Given the description of an element on the screen output the (x, y) to click on. 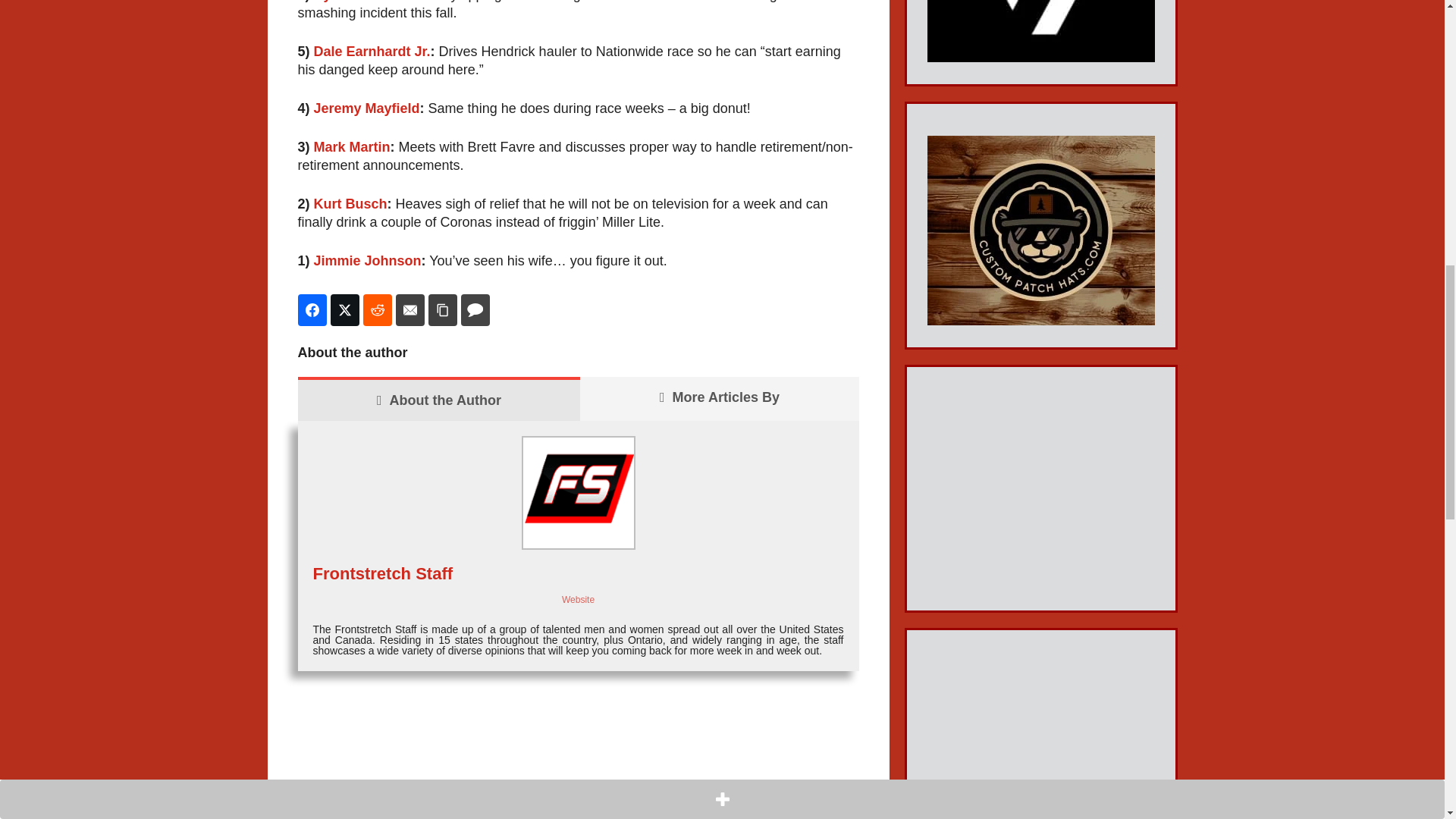
Jimmie Johnson (368, 260)
Kurt Busch (350, 203)
Dale Earnhardt Jr. (372, 51)
Kyle Busch (351, 1)
Share on Reddit (376, 309)
Website (578, 599)
Share on Email (410, 309)
Share on Twitter (344, 309)
Share on Copy Link (442, 309)
Scroll back to top (1406, 720)
